Given the description of an element on the screen output the (x, y) to click on. 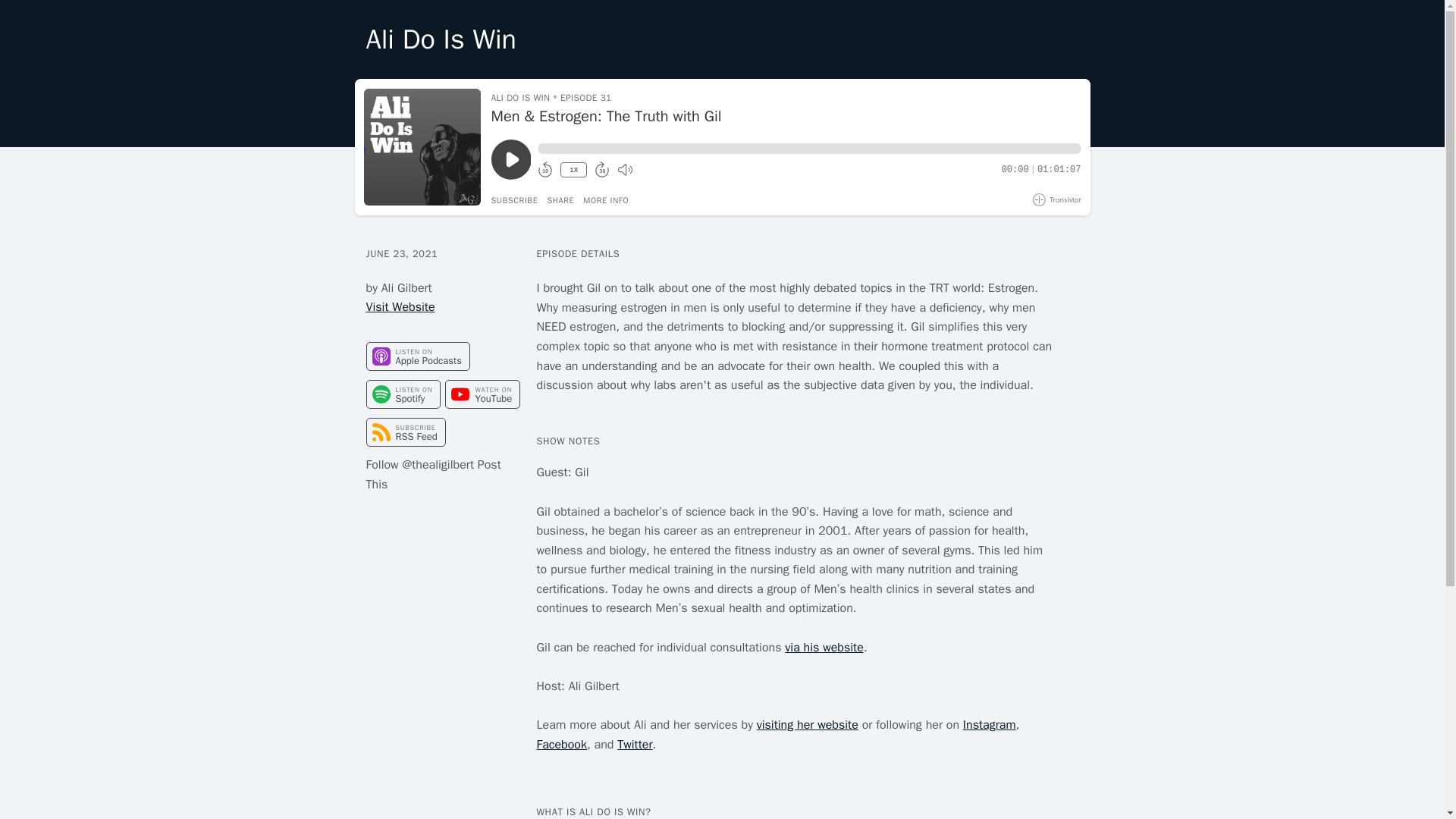
Fast Forward 30 seconds (602, 170)
Show sharing options (560, 200)
10 (545, 170)
Play (511, 159)
Seek within Episode (808, 148)
Rewind 10 seconds (545, 170)
SHARE (560, 200)
1X (573, 169)
MORE INFO (605, 200)
30 (602, 170)
Show episode details (605, 200)
Show subscribe options (515, 200)
Visit Transistor.fm - Podcast Hosting and Analytics (1056, 199)
SUBSCRIBE (515, 200)
